Given the description of an element on the screen output the (x, y) to click on. 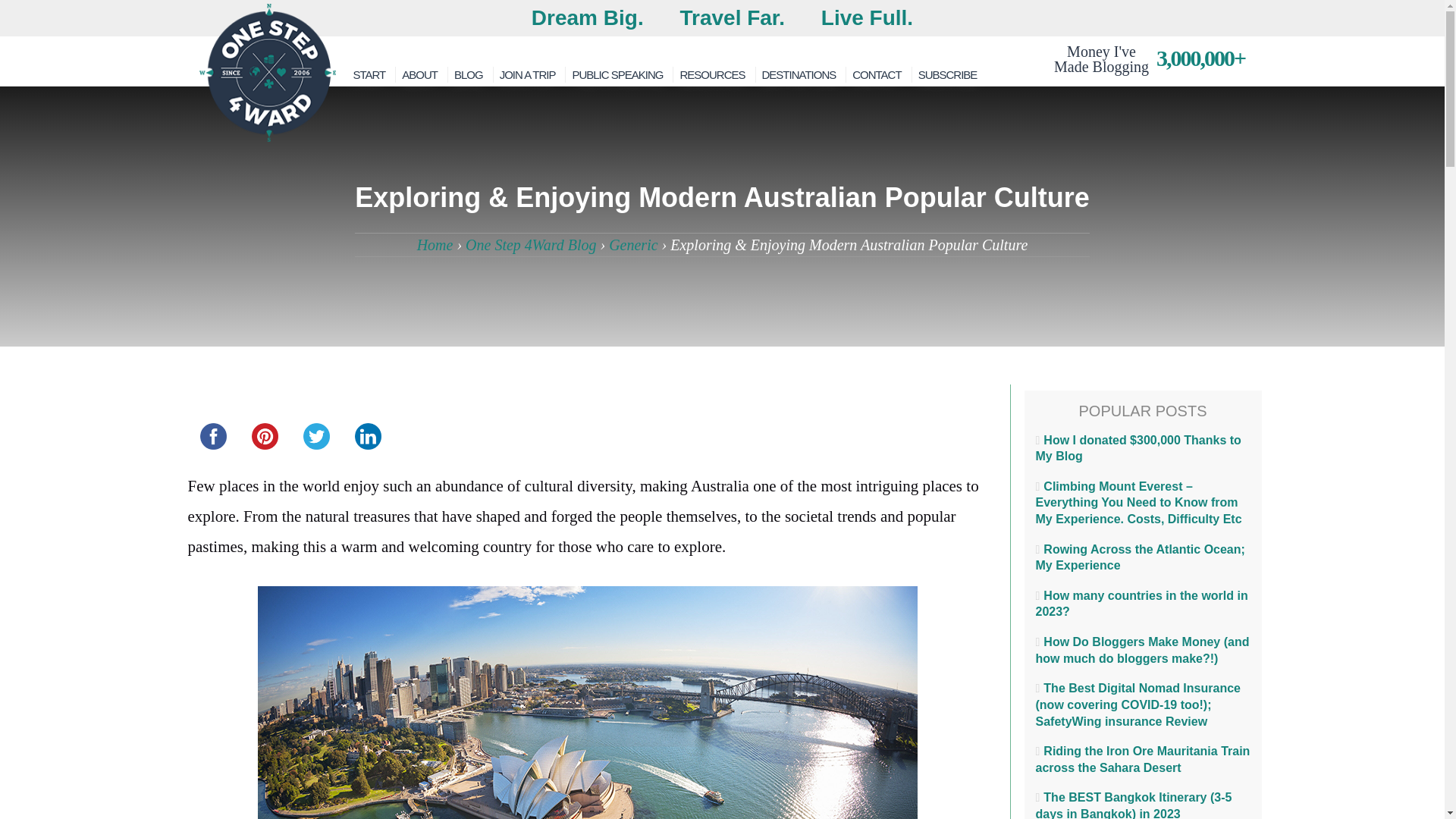
facebook (213, 436)
twitter (316, 436)
Home (434, 244)
BLOG (468, 74)
DESTINATIONS (798, 74)
SUBSCRIBE (948, 74)
linkedin (367, 436)
CONTACT (876, 74)
RESOURCES (711, 74)
PUBLIC SPEAKING (617, 74)
